Given the description of an element on the screen output the (x, y) to click on. 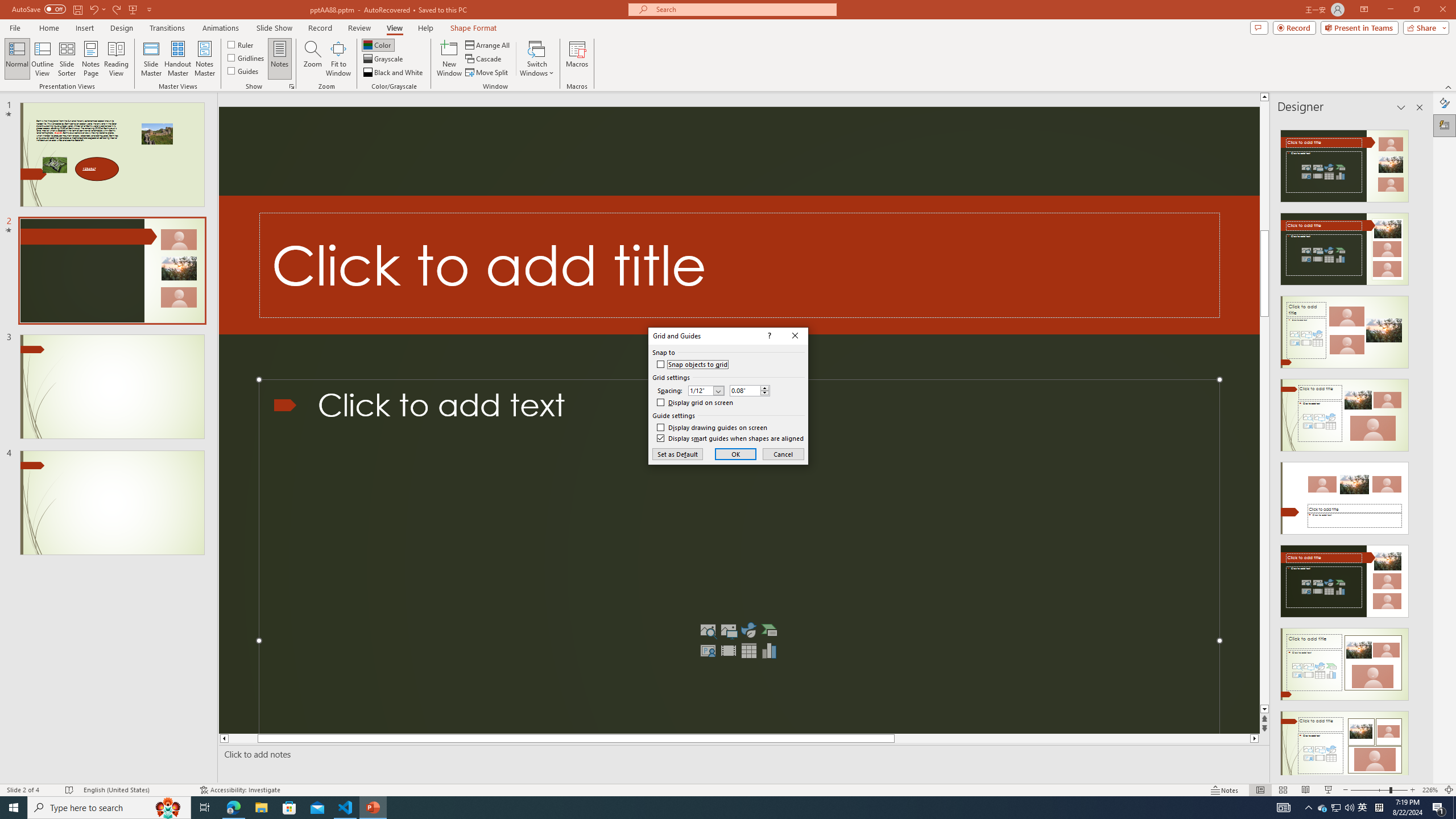
New Window (449, 58)
Design Idea (1344, 743)
Notes (279, 58)
Gridlines (246, 56)
Insert an Icon (748, 629)
Insert Table (748, 650)
Display grid on screen (694, 402)
Notes Page (90, 58)
